Given the description of an element on the screen output the (x, y) to click on. 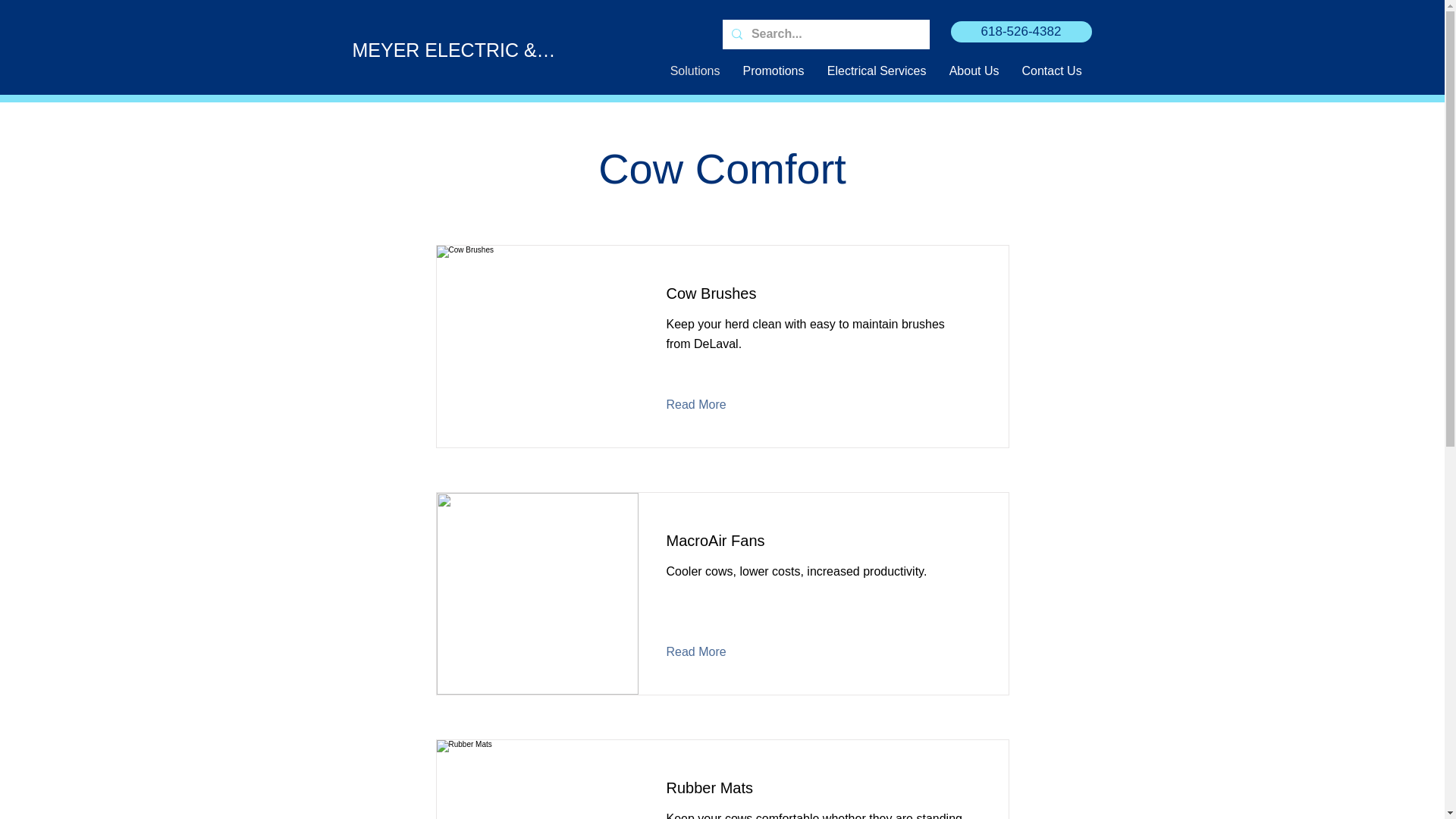
msb-product-master.jpeg (537, 346)
Read More (706, 651)
macro-air-fan.png (537, 593)
Read More (706, 404)
Promotions (772, 70)
Solutions (694, 70)
Electrical Services (876, 70)
618-526-4382 (1021, 31)
Contact Us (1051, 70)
About Us (973, 70)
